Given the description of an element on the screen output the (x, y) to click on. 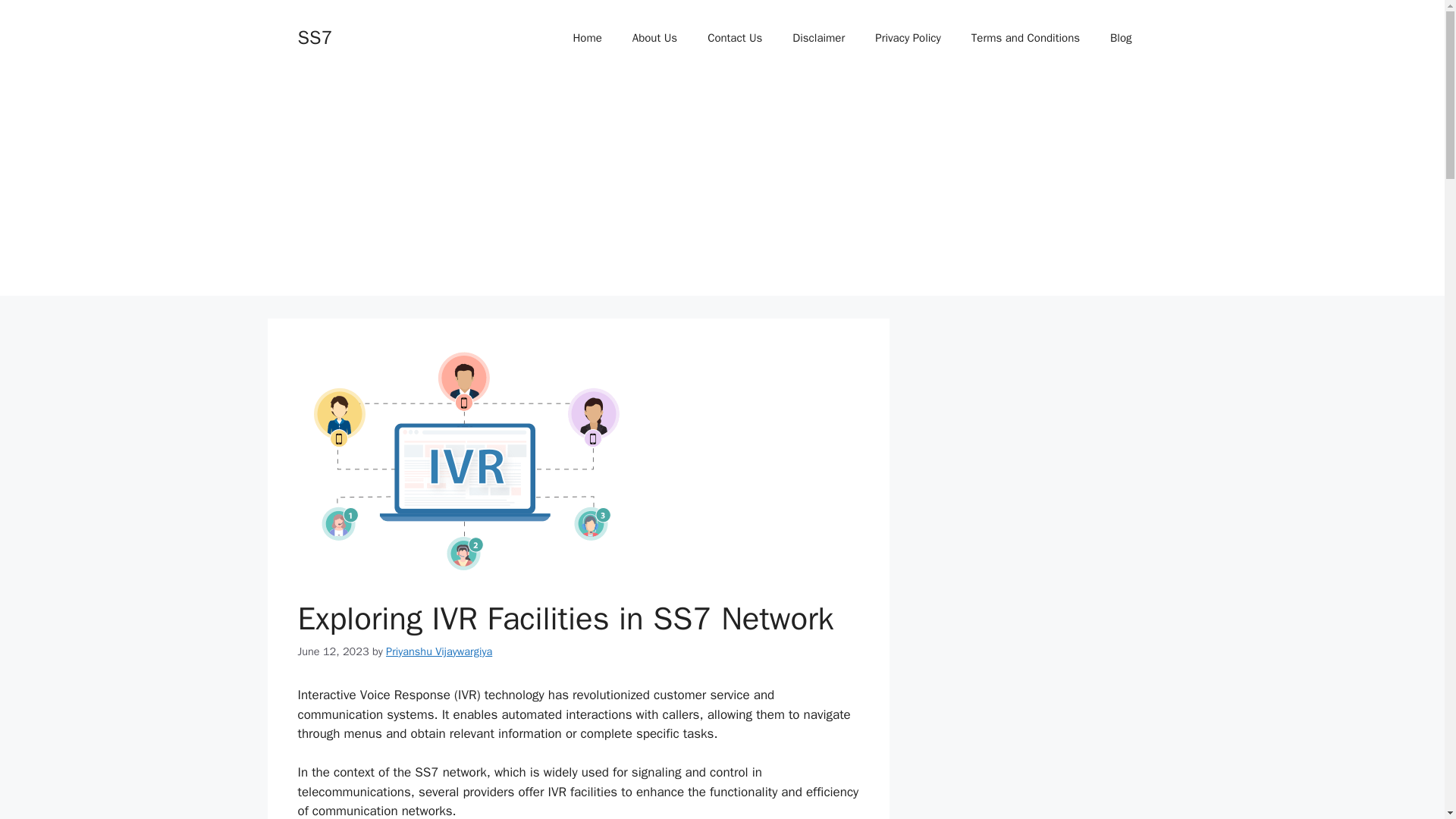
Disclaimer (818, 37)
Blog (1120, 37)
Terms and Conditions (1025, 37)
SS7 (314, 37)
Privacy Policy (908, 37)
About Us (655, 37)
View all posts by Priyanshu Vijaywargiya (438, 651)
Priyanshu Vijaywargiya (438, 651)
Contact Us (735, 37)
Home (586, 37)
